Given the description of an element on the screen output the (x, y) to click on. 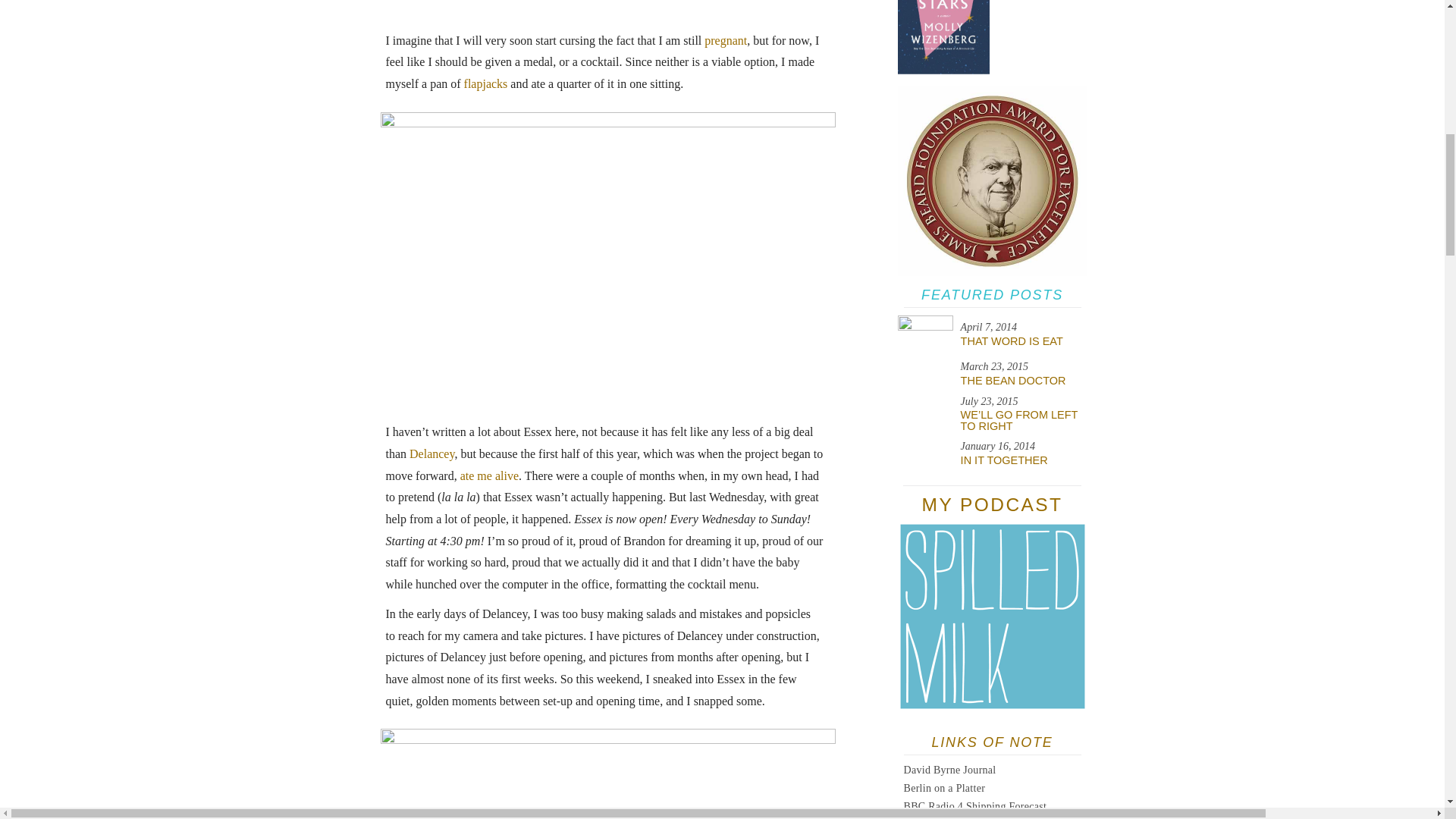
ate me alive (489, 475)
Delancey (431, 453)
flapjacks (486, 83)
pregnant (725, 40)
